Given the description of an element on the screen output the (x, y) to click on. 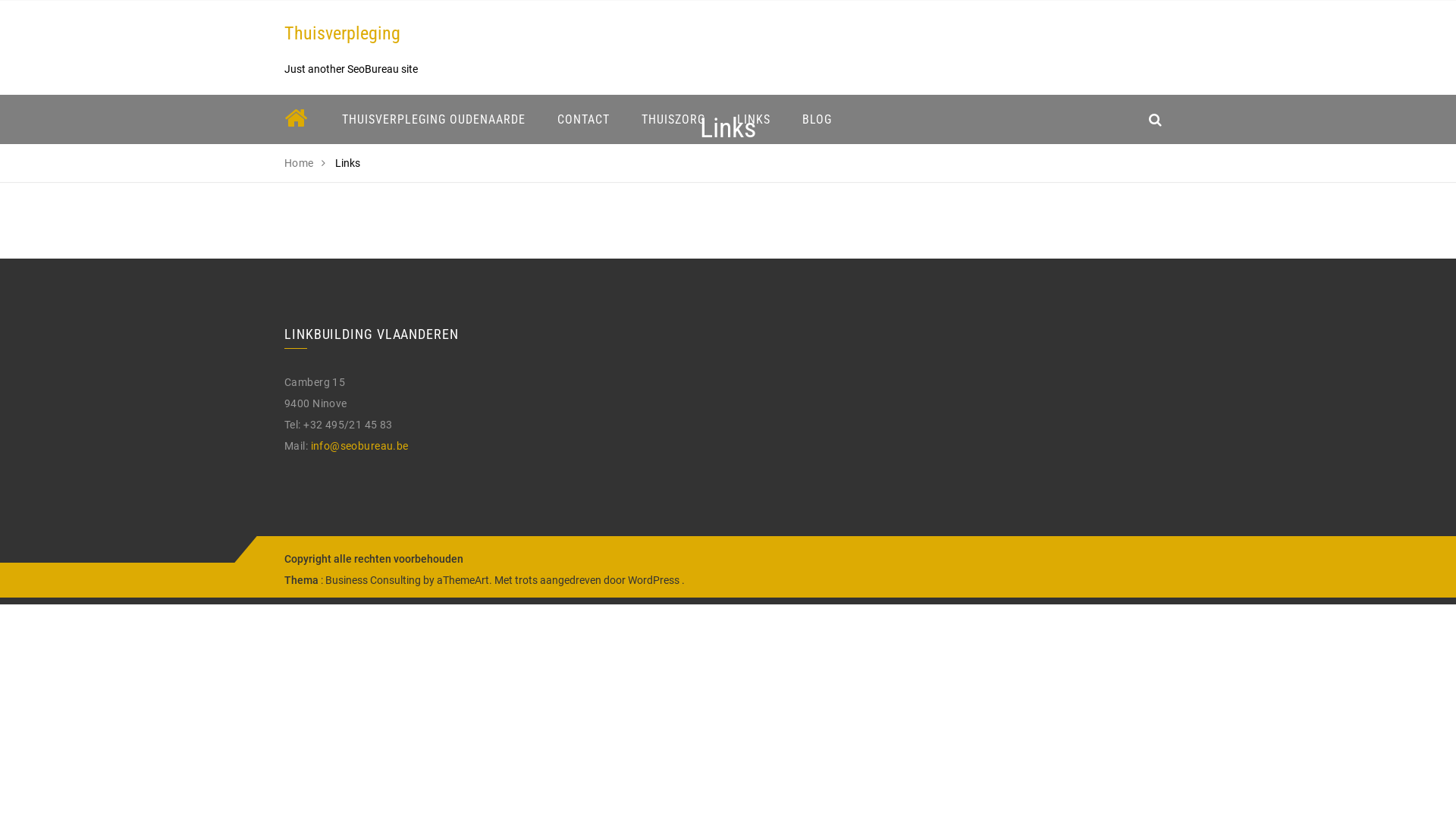
THUISZORG Element type: text (673, 119)
BLOG Element type: text (816, 119)
Home Element type: text (298, 162)
Thuisverpleging Element type: text (342, 32)
THUISVERPLEGING OUDENAARDE Element type: text (433, 119)
LINKS Element type: text (753, 119)
search_icon Element type: hover (1155, 119)
info@seobureau.be Element type: text (359, 445)
Thema Element type: text (301, 580)
CONTACT Element type: text (583, 119)
